Given the description of an element on the screen output the (x, y) to click on. 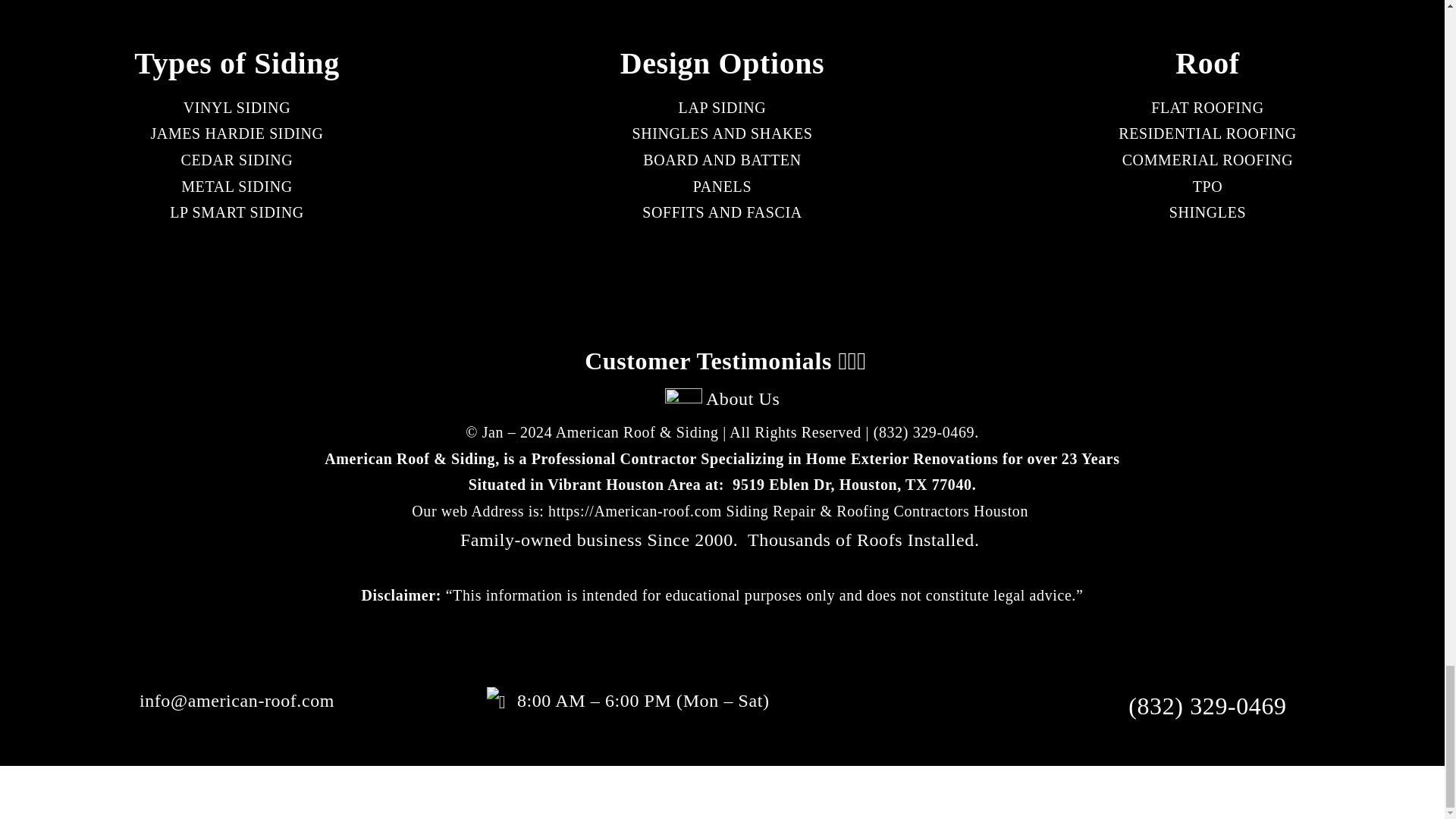
VINYL SIDING (236, 107)
JAMES HARDIE SIDING (236, 133)
